Given the description of an element on the screen output the (x, y) to click on. 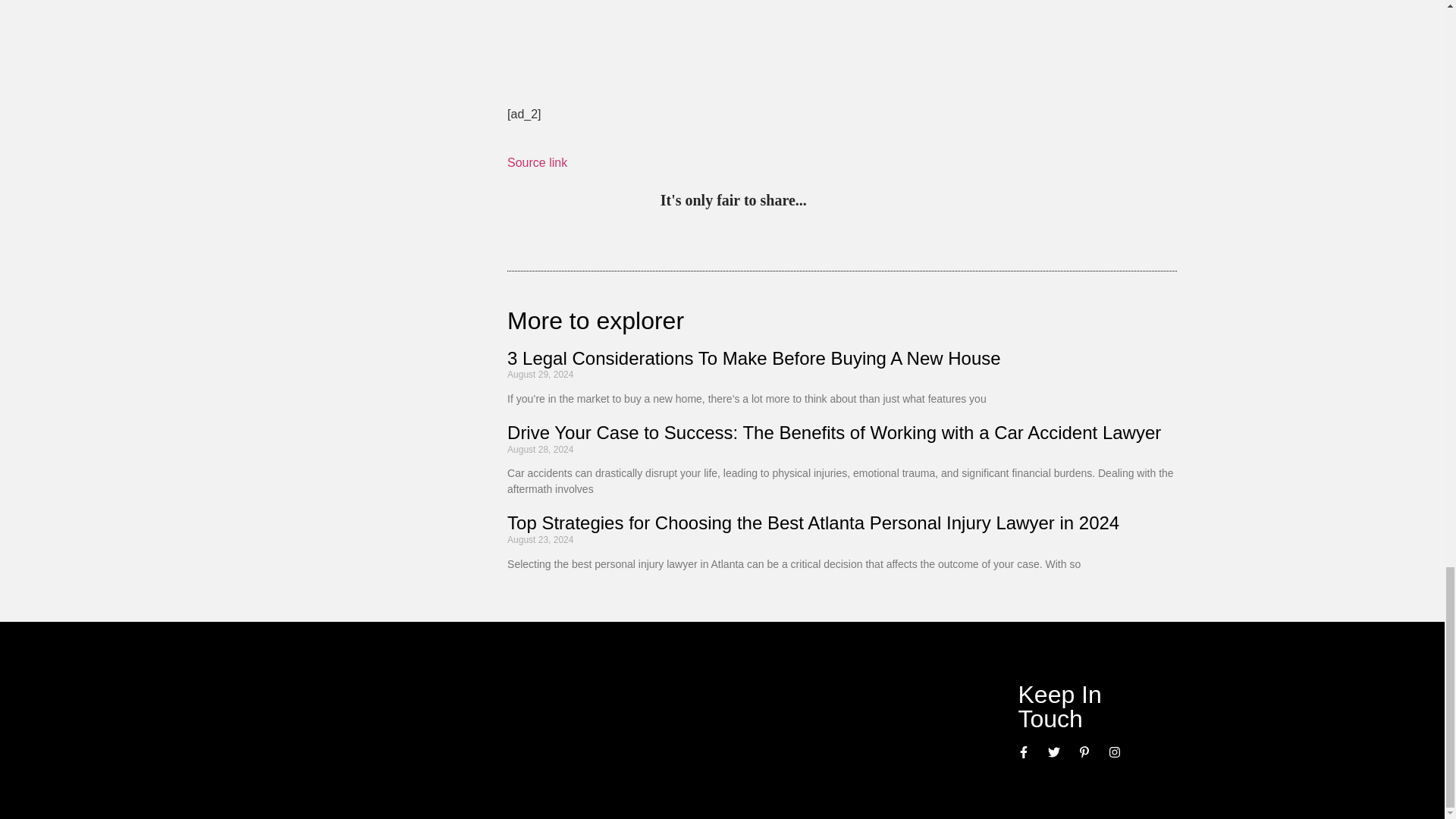
3 Legal Considerations To Make Before Buying A New House (753, 358)
facebook (946, 201)
email (977, 201)
twitter (853, 201)
google (915, 201)
print (1008, 201)
pinterest (822, 201)
linkedin (884, 201)
Source link (536, 162)
